Given the description of an element on the screen output the (x, y) to click on. 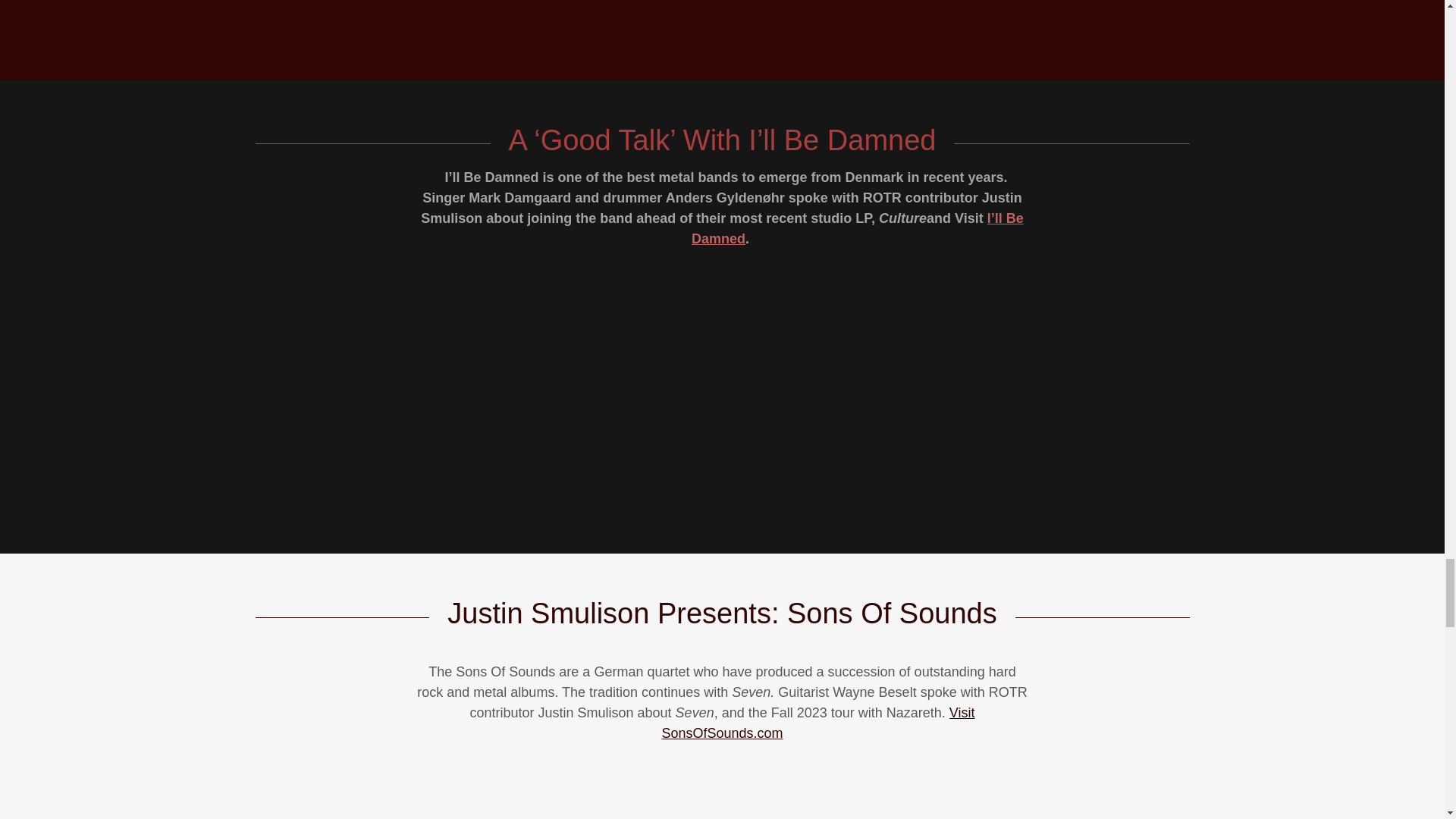
Clickable audio widget (721, 393)
Clickable audio widget (721, 16)
Visit SonsOfSounds.com (817, 723)
Clickable audio widget (721, 796)
